Given the description of an element on the screen output the (x, y) to click on. 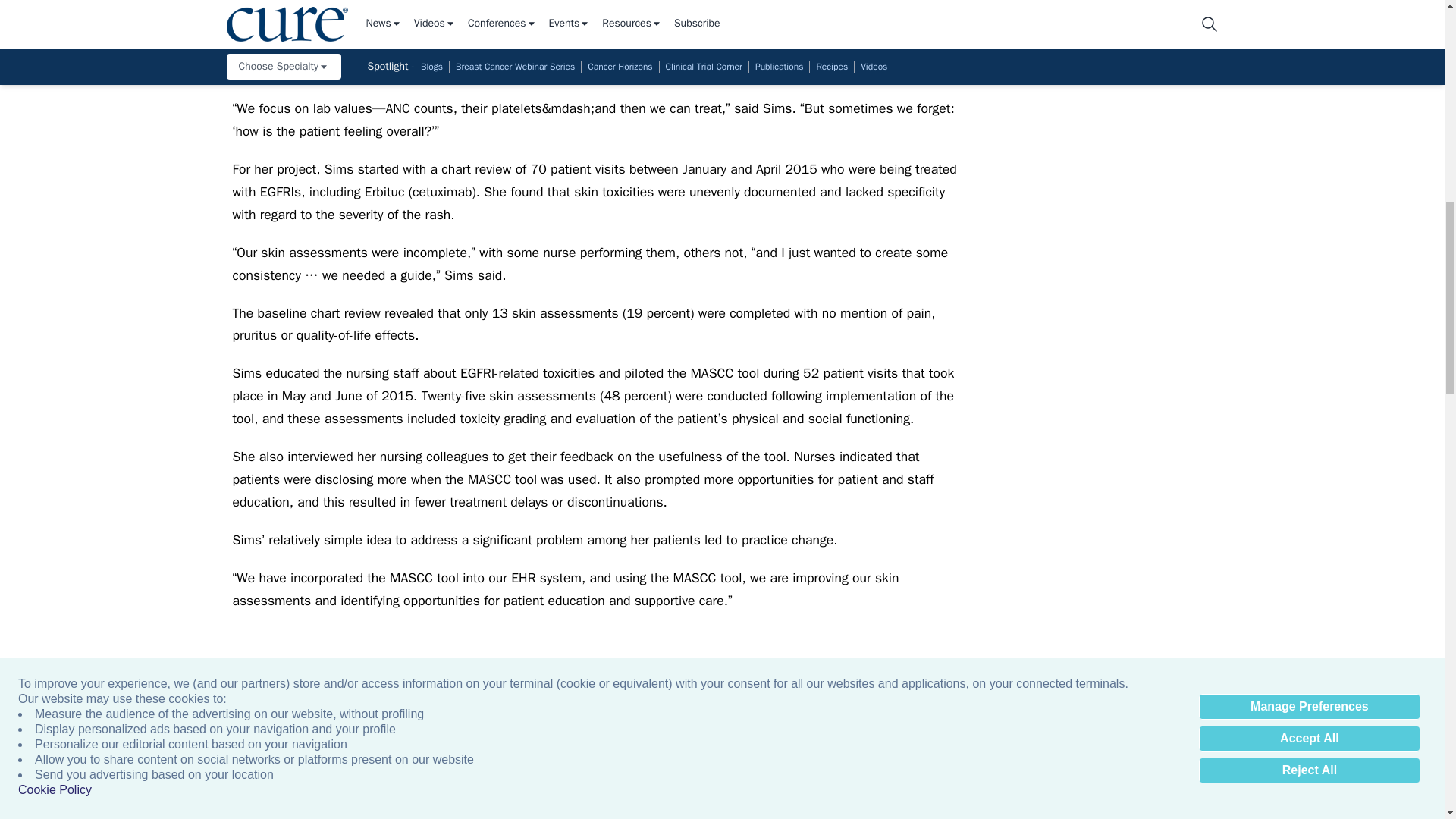
Dr. Anna C. Pavlick (999, 780)
Treating Skin Cancer Panel (835, 780)
Dr. Jedd D. Wolchok (1326, 780)
Image of a woman with blond hai (343, 780)
Dr. Manisha Thakuria in an interview with CURE (507, 780)
Dr. Beth Goldstein in an interview with CURE  (671, 780)
Lorenzo G. Cohen (1163, 780)
